Given the description of an element on the screen output the (x, y) to click on. 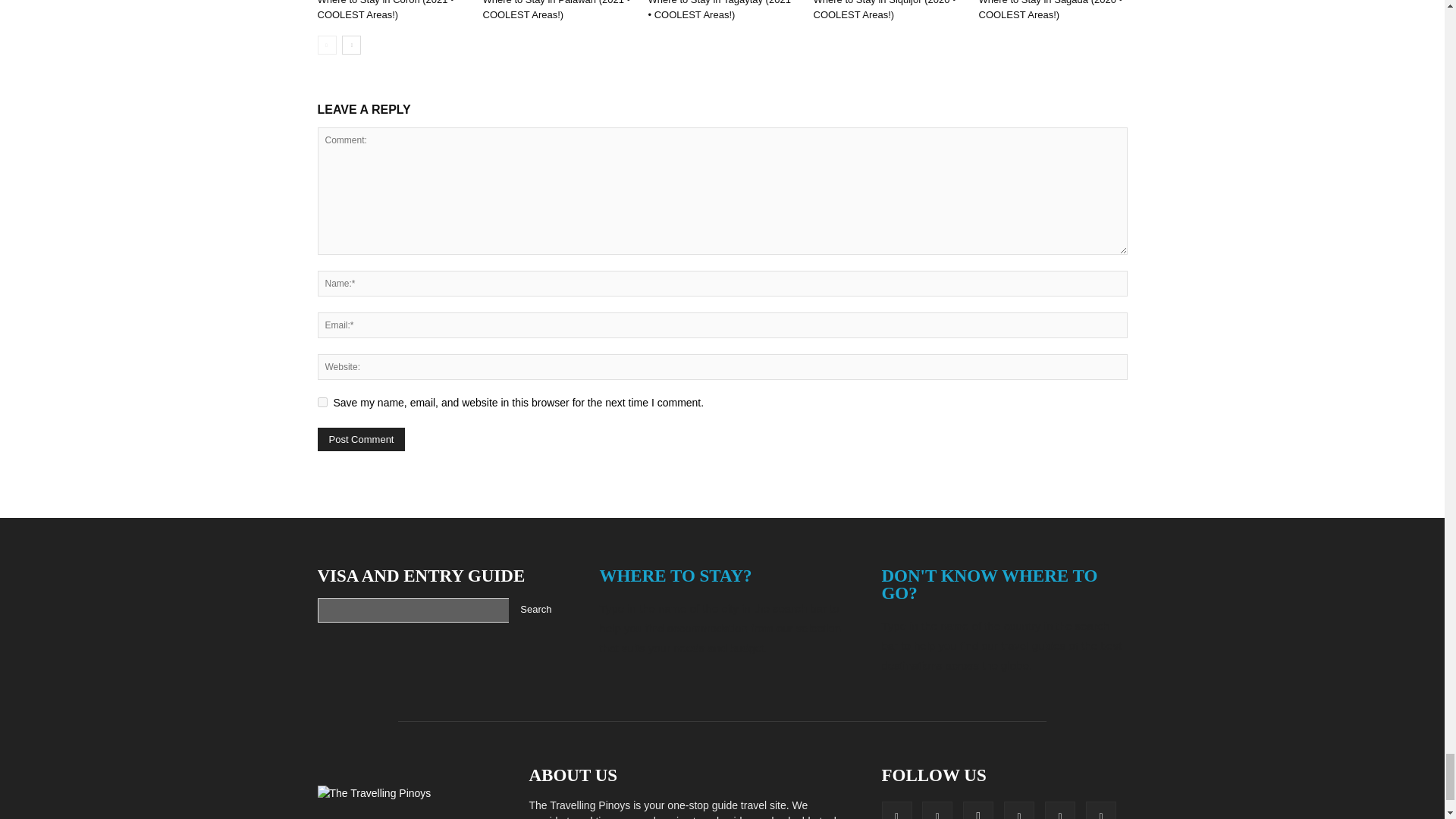
Post Comment (360, 439)
yes (321, 402)
Search (535, 610)
